Given the description of an element on the screen output the (x, y) to click on. 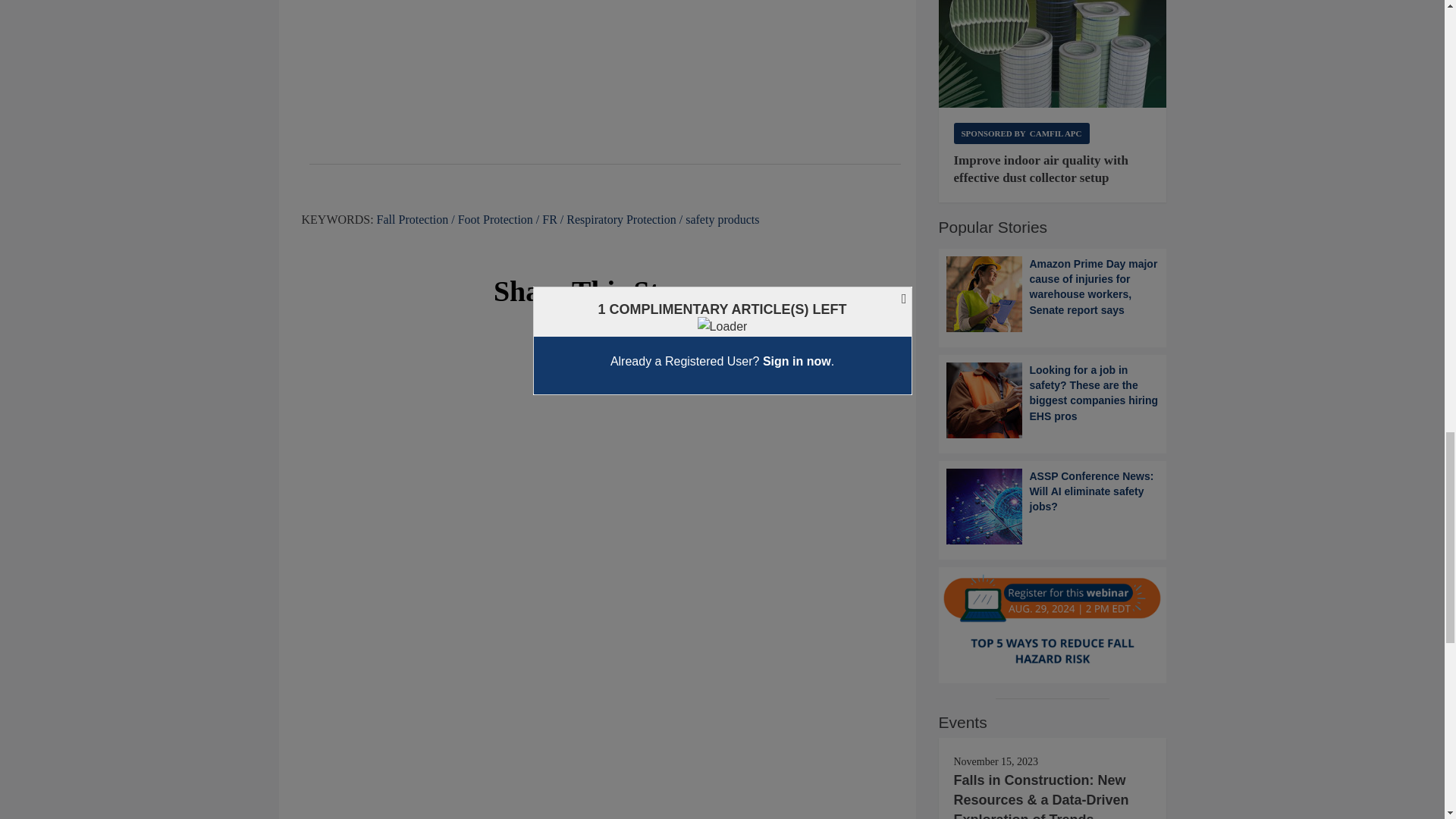
ASSP Conference News: Will AI eliminate safety jobs? (1052, 506)
Sponsored by Camfil APC (1021, 132)
dust collector filters and media (1052, 54)
